Given the description of an element on the screen output the (x, y) to click on. 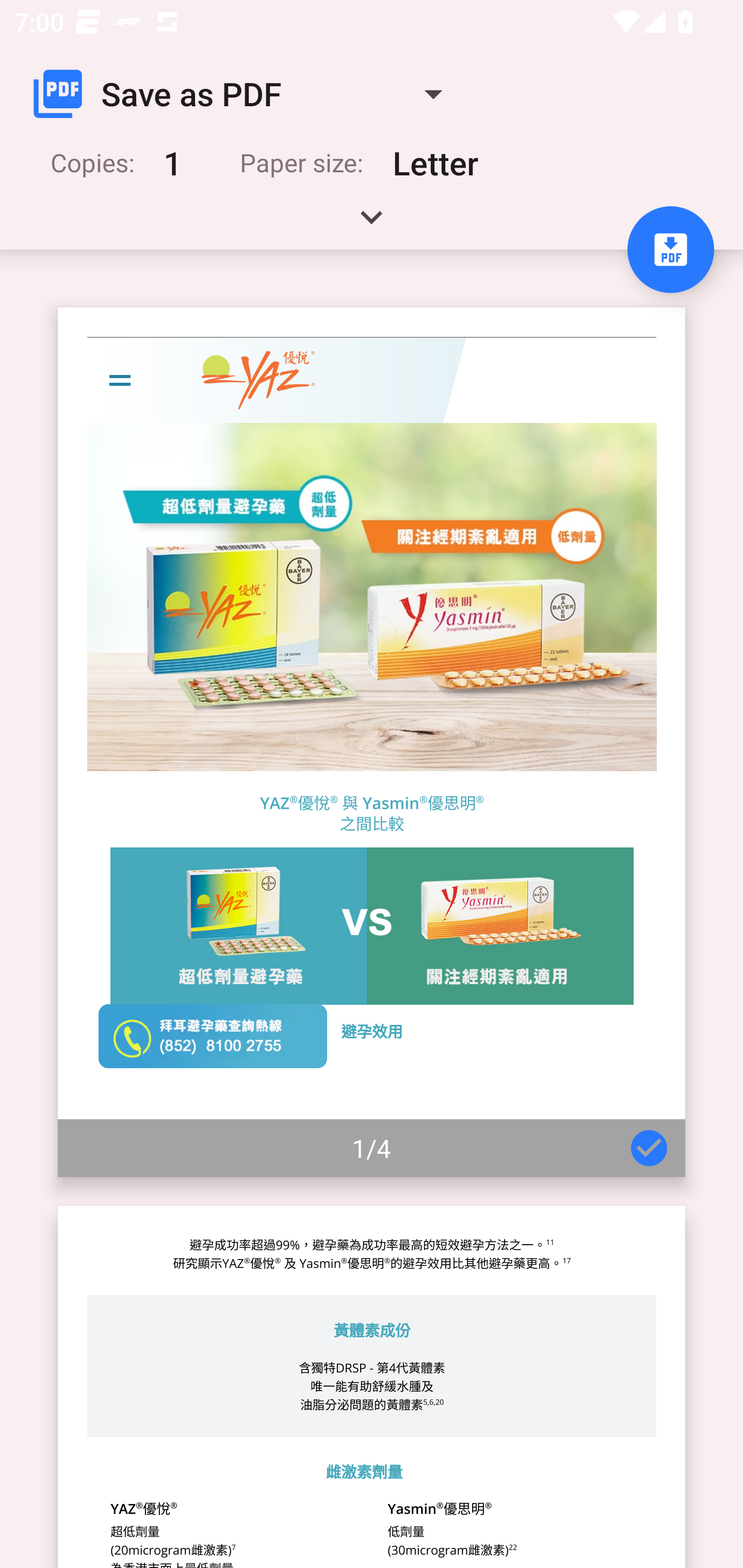
Save as PDF (245, 93)
Expand handle (371, 224)
Save to PDF (670, 249)
Page 1 of 4 1/4 (371, 742)
Page 2 of 4 (371, 1386)
